Given the description of an element on the screen output the (x, y) to click on. 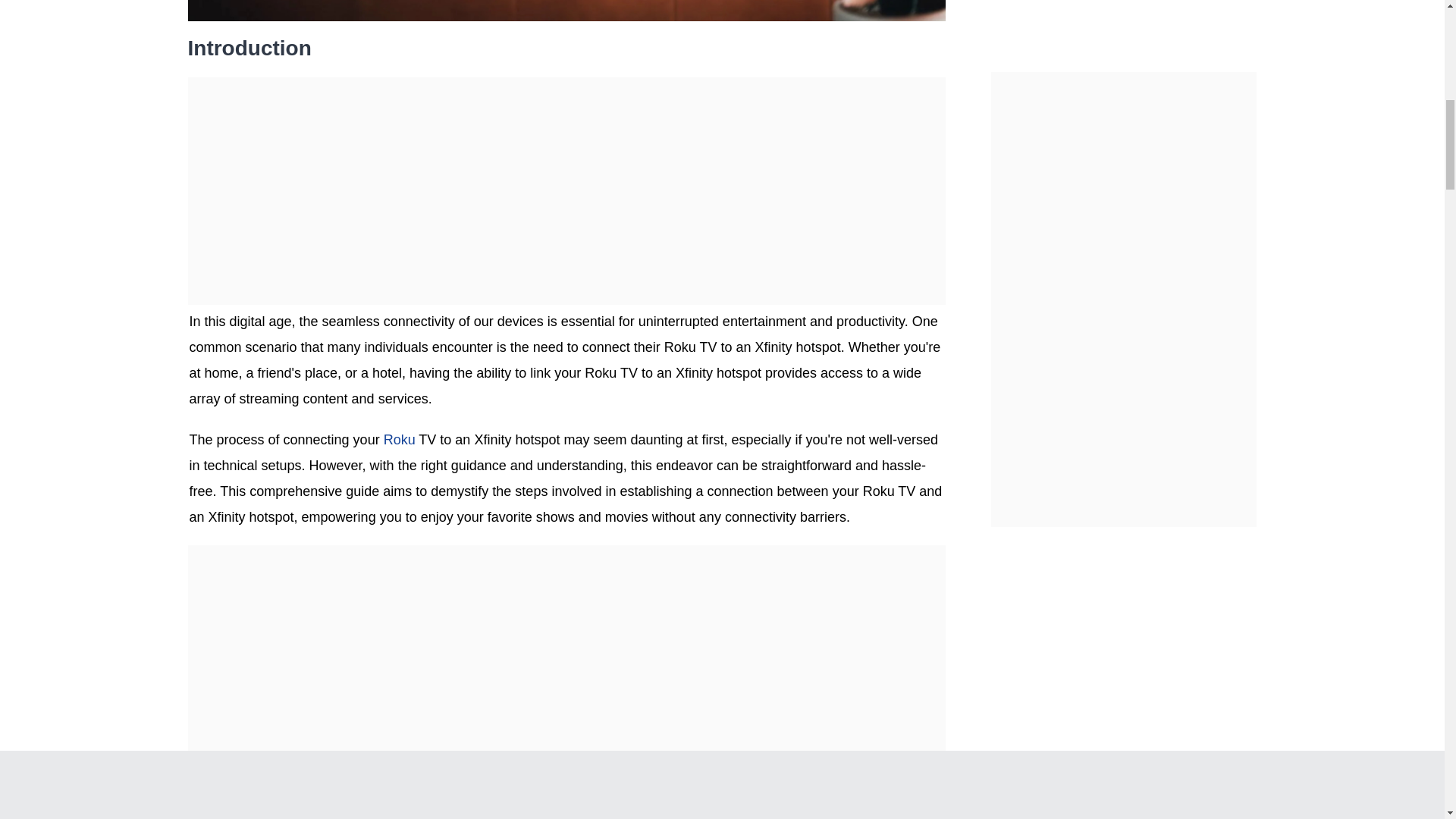
Roku (399, 439)
